Given the description of an element on the screen output the (x, y) to click on. 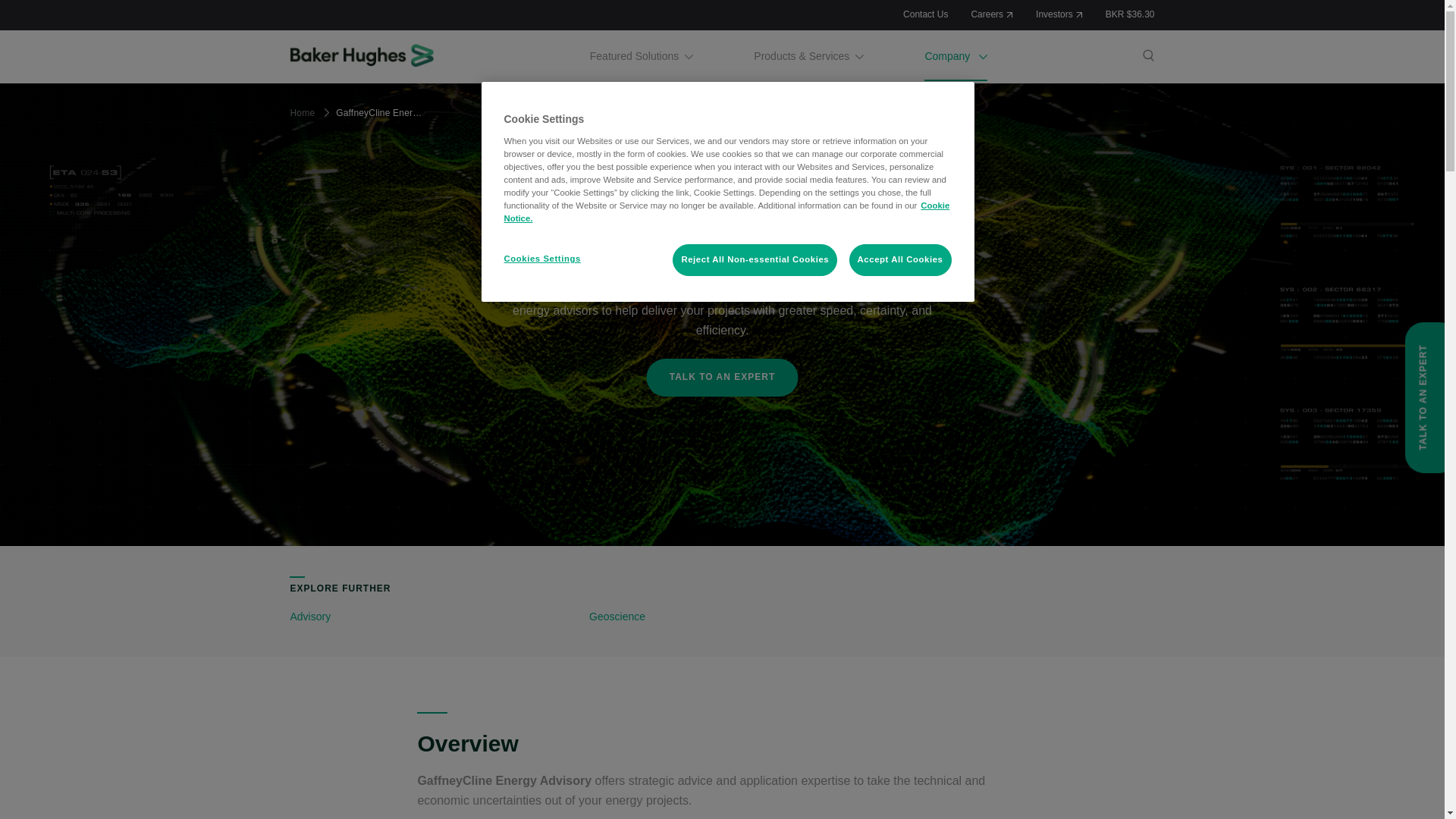
baker hughes investor relations (1059, 14)
Featured Solutions (641, 55)
Investors (1059, 14)
Baker Hughes Stock Price (1129, 14)
baker hughes careers (992, 14)
Contact Us (924, 14)
Home (363, 55)
Careers (992, 14)
